Given the description of an element on the screen output the (x, y) to click on. 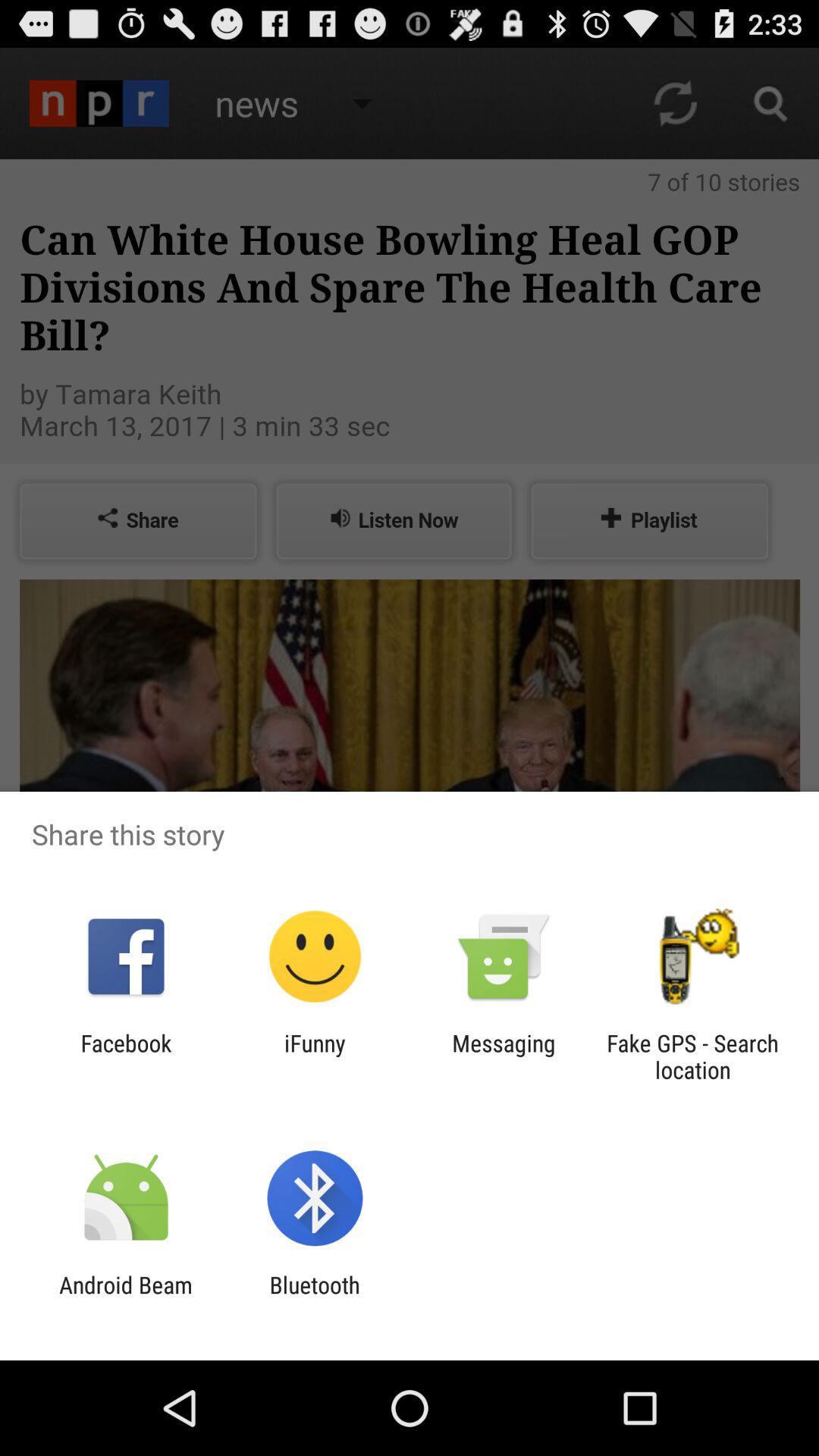
select the fake gps search app (692, 1056)
